Given the description of an element on the screen output the (x, y) to click on. 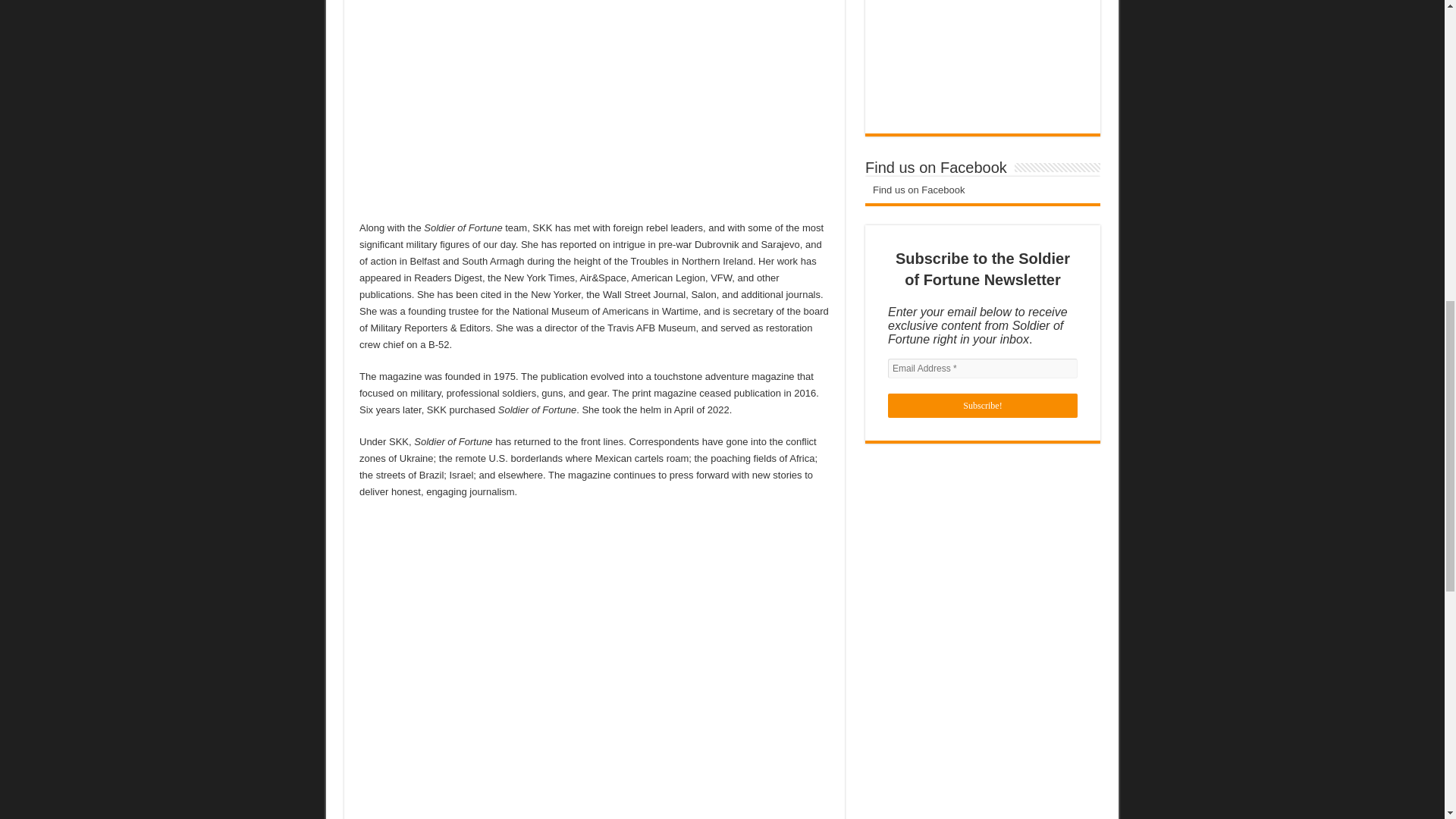
Subscribe! (982, 405)
